Given the description of an element on the screen output the (x, y) to click on. 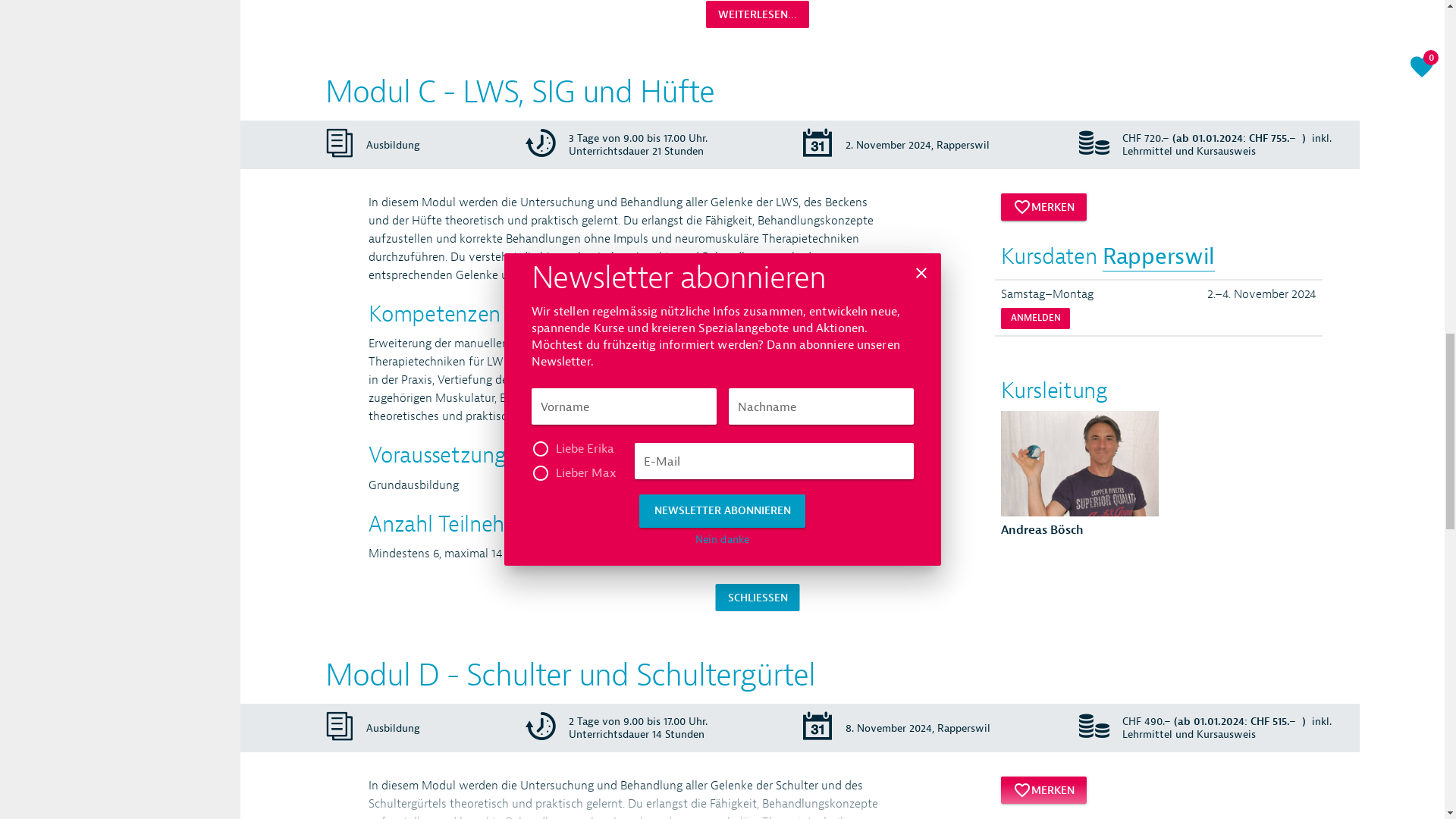
Ausbildungen & Kurse Element type: text (1024, 72)
Themen Element type: text (1147, 72)
Standorte Element type: text (1232, 72)
Ausbildungsinhalte Element type: text (129, 655)
DETAILS Element type: text (932, 17)
favorite_border
MERKEN Element type: text (1043, 767)
